Given the description of an element on the screen output the (x, y) to click on. 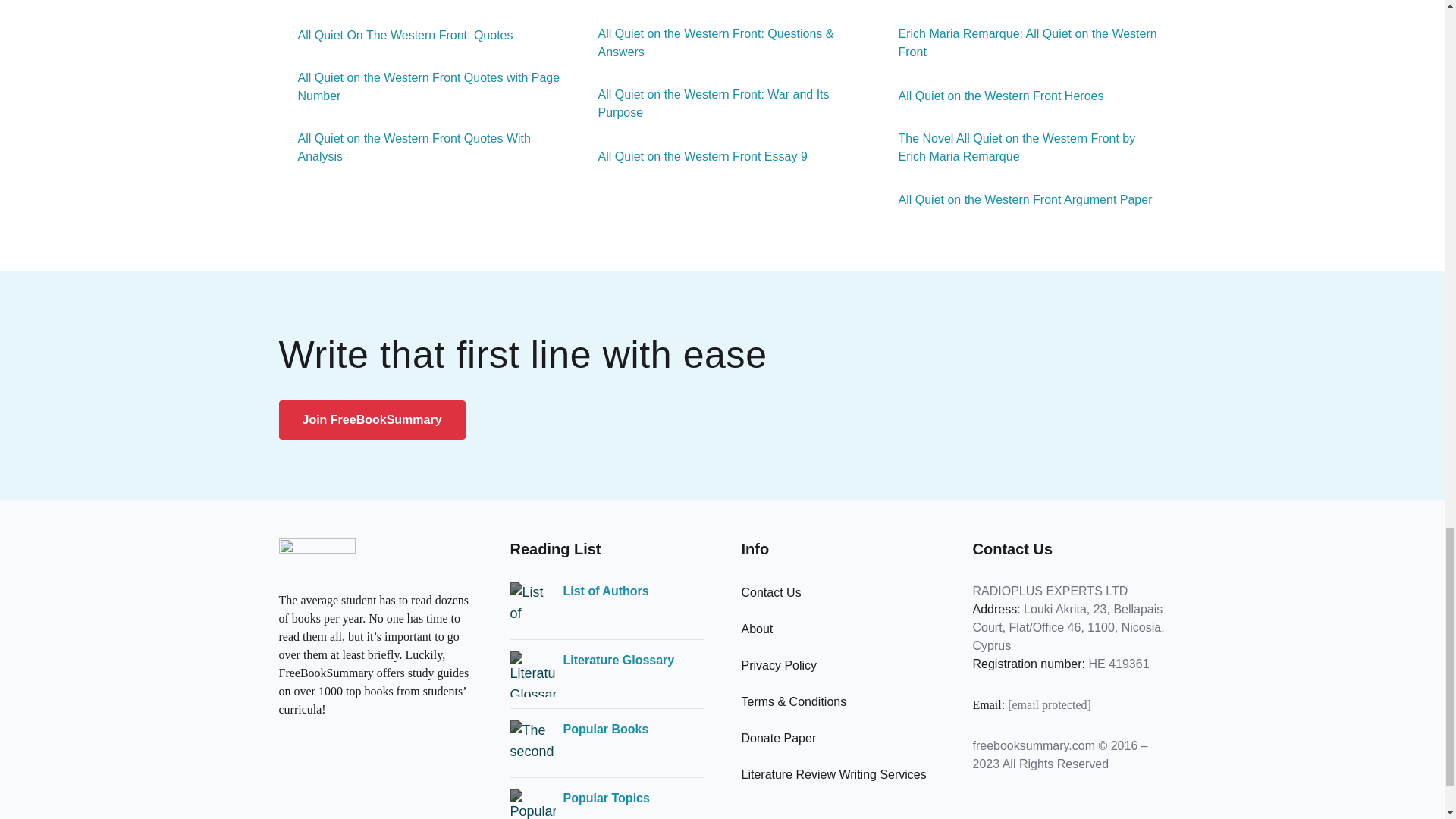
All Quiet on the Western Front Heroes (991, 95)
Literature Glossary (618, 660)
List of Authors (604, 591)
All Quiet on the Western Front Argument Paper (1016, 199)
All Quiet on the Western Front: War and Its Purpose (722, 103)
All Quiet On The Western Front: Quotes (396, 35)
All Quiet on the Western Front Essay 9 (693, 157)
All Quiet on the Western Front Quotes With Analysis (422, 147)
All Quiet on the Western Front Quotes with Page Number (422, 86)
Erich Maria Remarque: All Quiet on the Western Front (1022, 43)
